Given the description of an element on the screen output the (x, y) to click on. 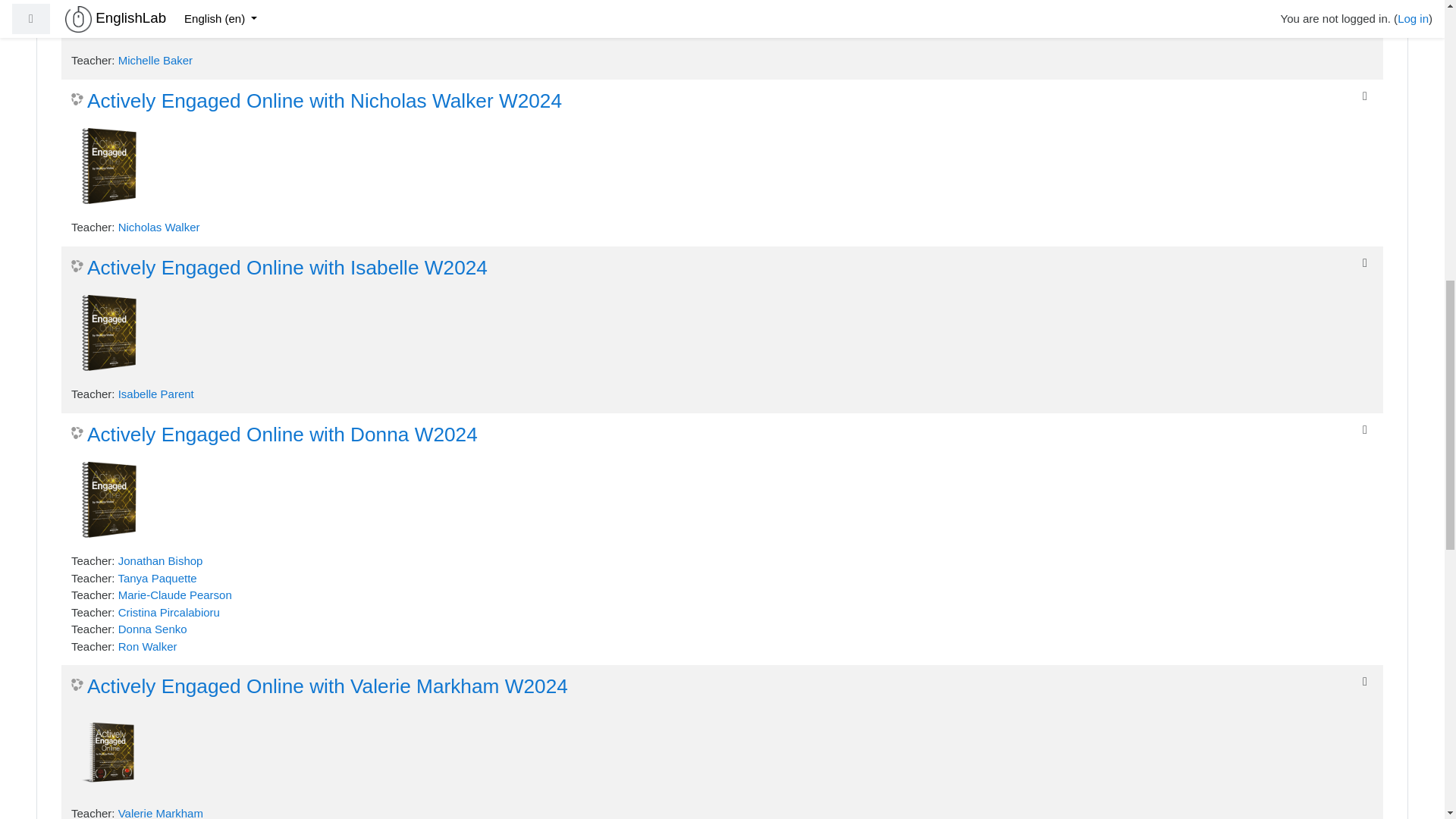
Actively Engaged Online with Valerie Markham W2024 (319, 686)
Cristina Pircalabioru (168, 611)
Marie-Claude Pearson (174, 594)
Jonathan Bishop (160, 560)
Valerie Markham (160, 812)
Ron Walker (147, 645)
Actively Engaged Online with Isabelle W2024 (279, 268)
Nicholas Walker (158, 226)
Michelle Baker (154, 60)
Tanya Paquette (156, 577)
